Given the description of an element on the screen output the (x, y) to click on. 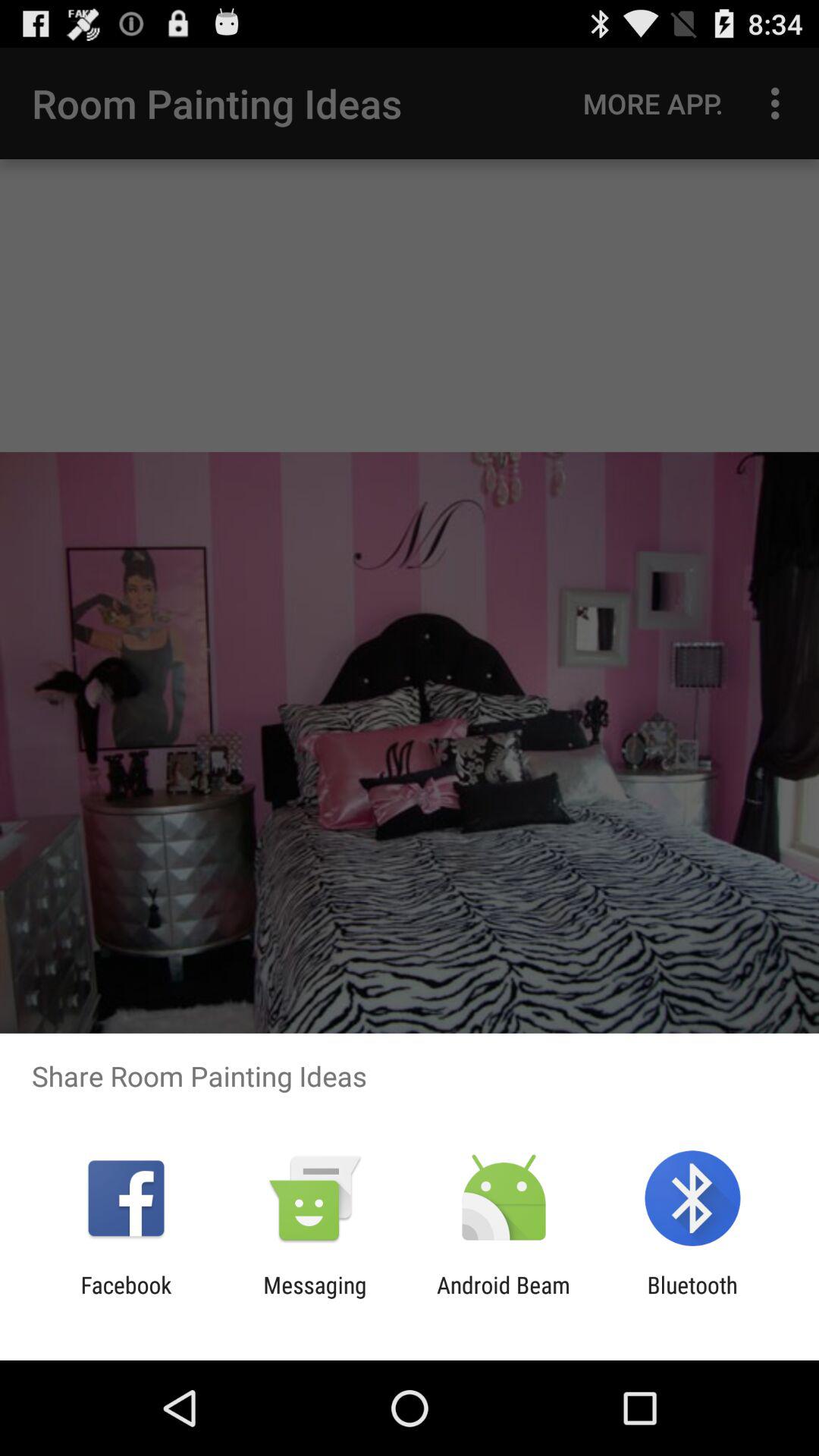
press the messaging (314, 1298)
